Given the description of an element on the screen output the (x, y) to click on. 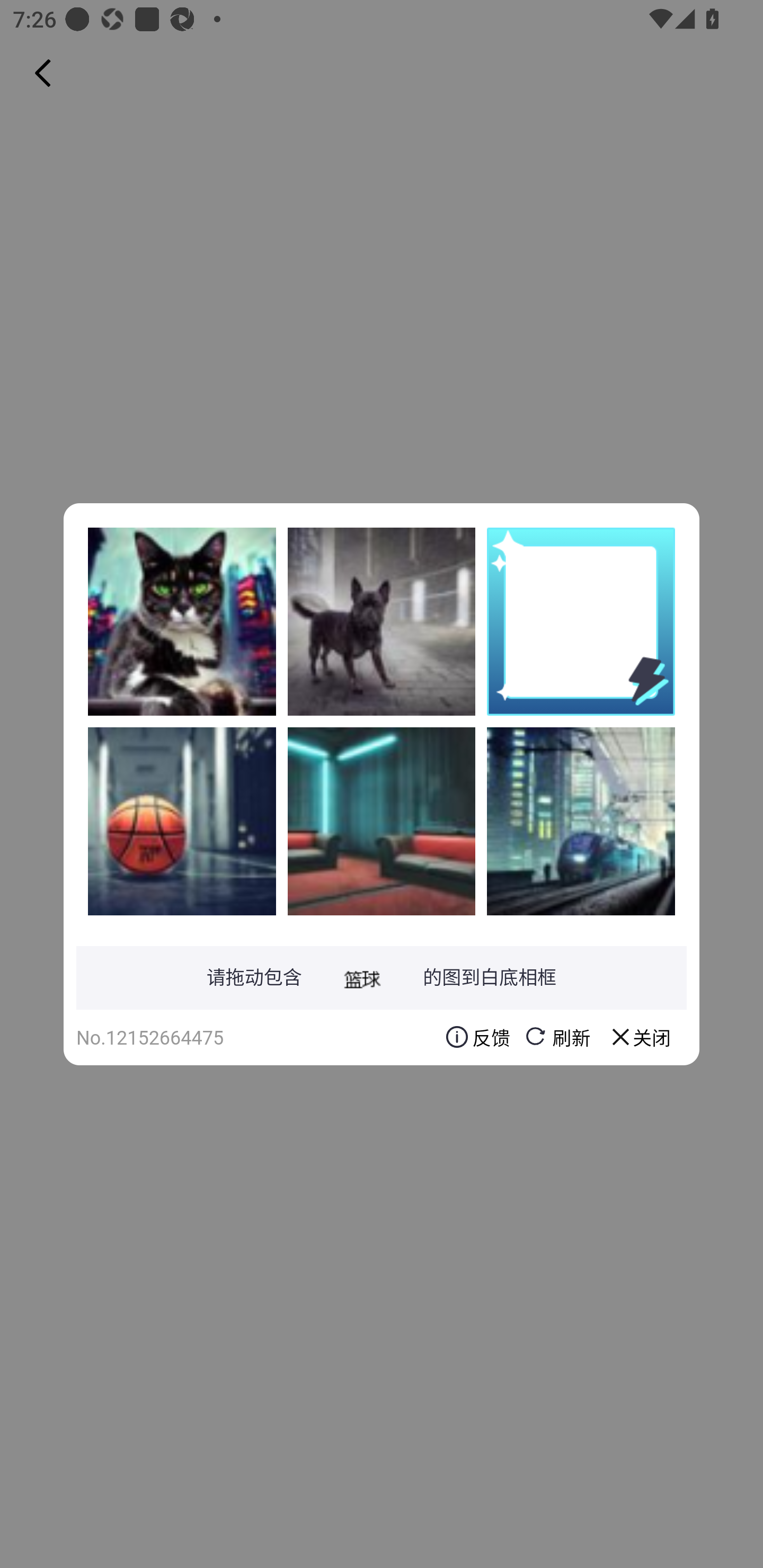
+ (181, 621)
CGPLgDRSKLP3r4SFrrW8XygKWCI0DGvY2vbpT1UB (381, 621)
oQXPnobe+86jK7+VvTWV+Dxmb1499g0nqNnXWhLwaWpen (181, 820)
w8Af++CqoUjlr (381, 820)
+SU10jCSq6rwiU (580, 820)
